Given the description of an element on the screen output the (x, y) to click on. 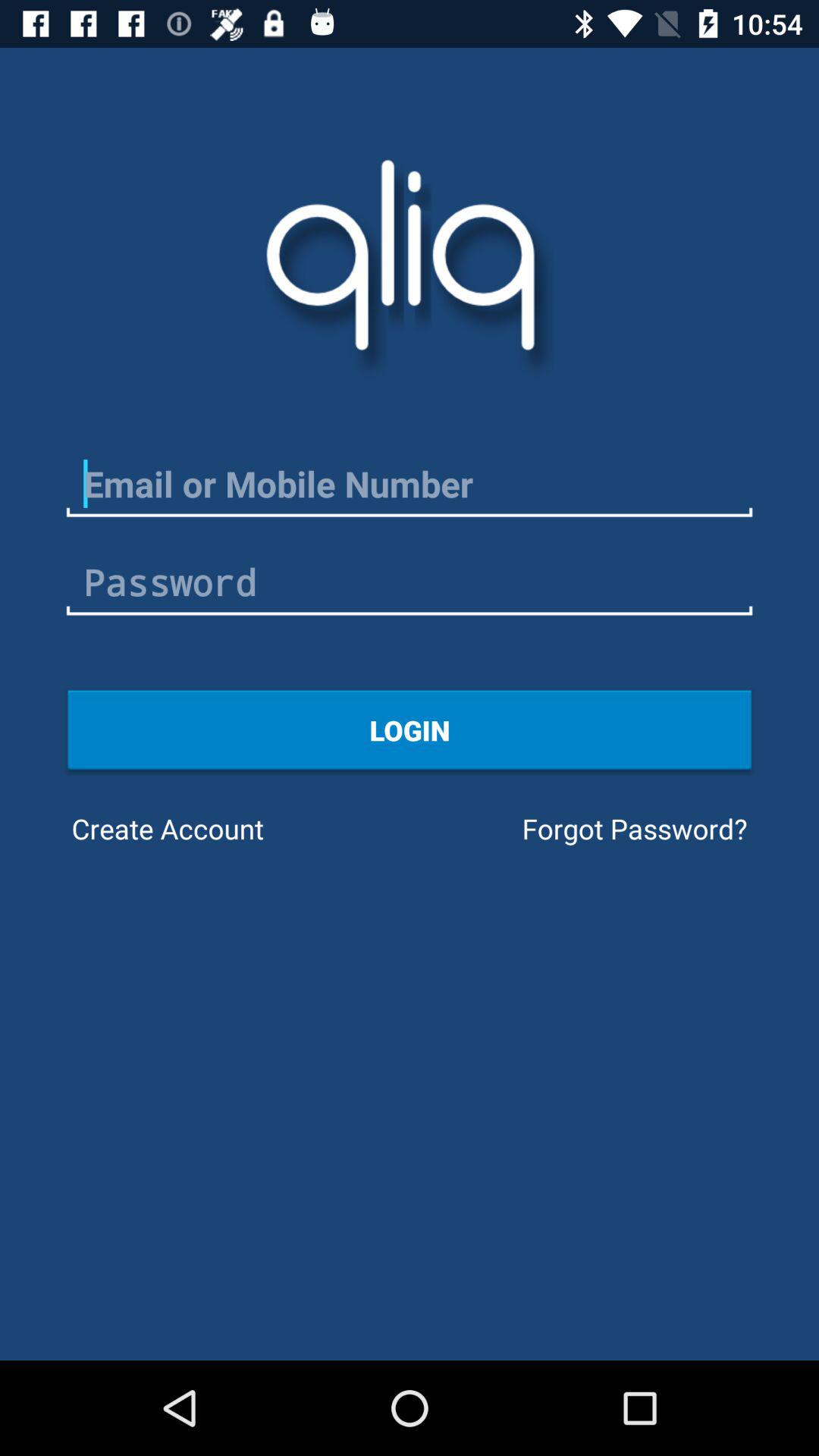
enter password (409, 582)
